Given the description of an element on the screen output the (x, y) to click on. 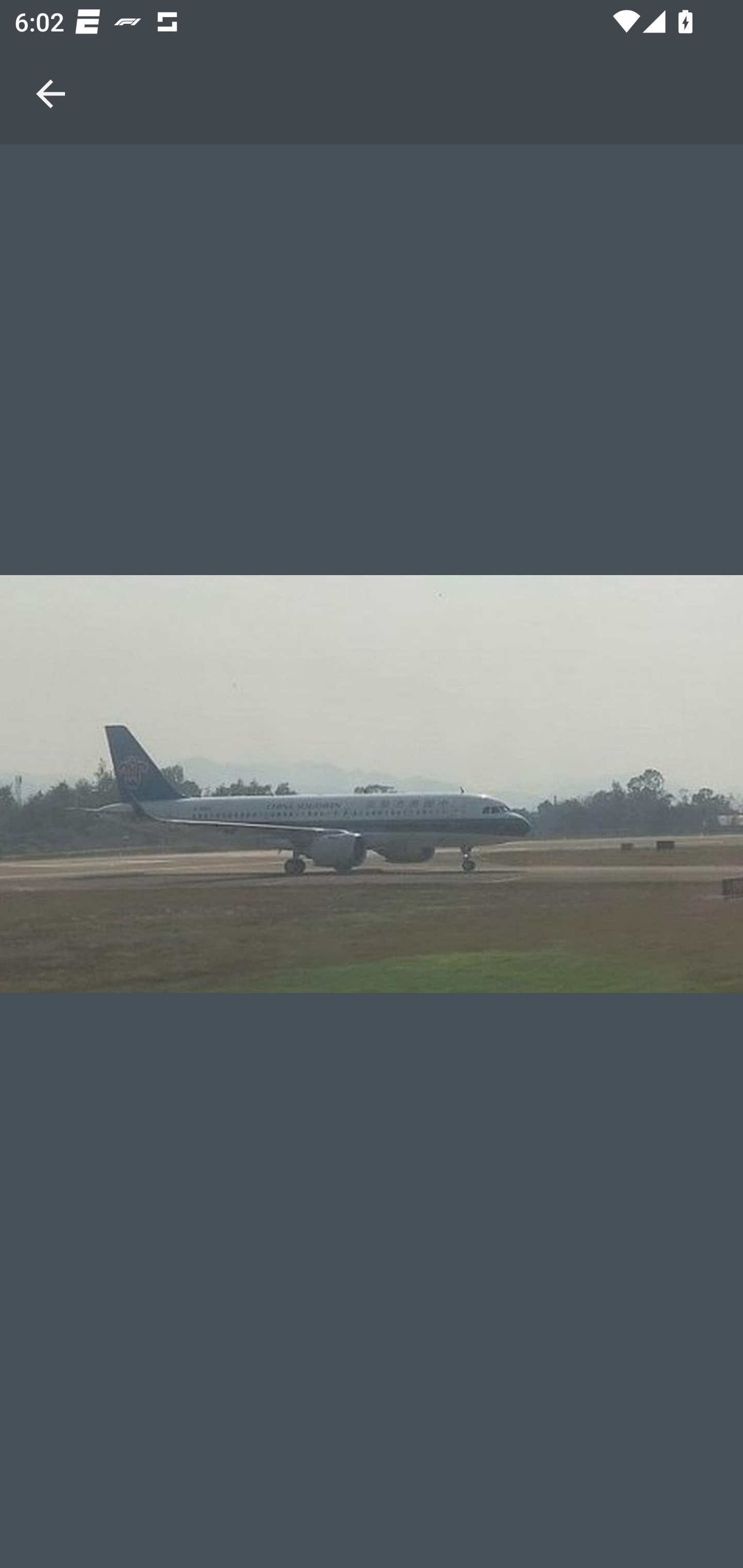
Back (50, 72)
